Given the description of an element on the screen output the (x, y) to click on. 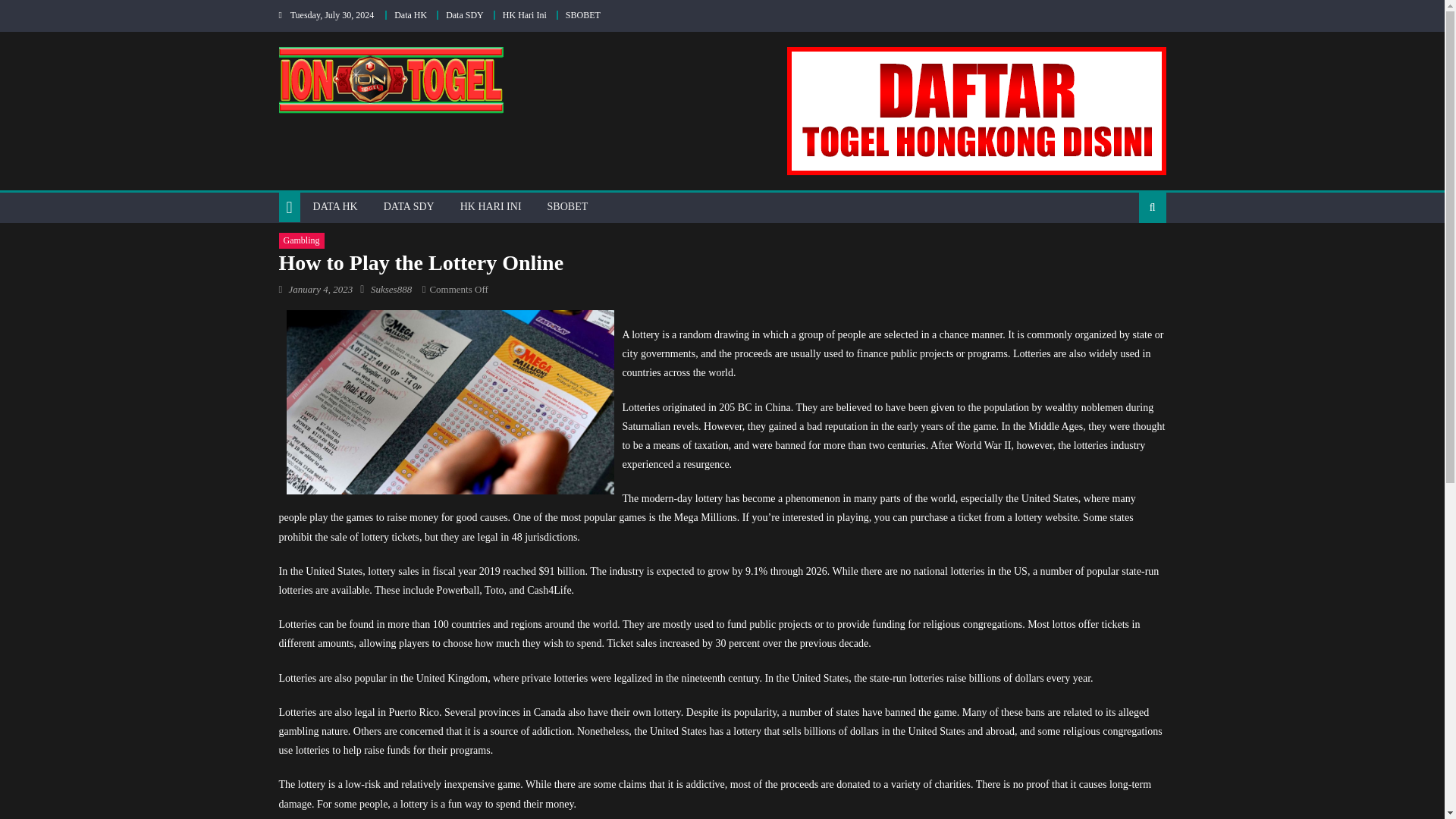
Search (1128, 256)
DATA HK (335, 206)
January 4, 2023 (320, 288)
Gambling (301, 240)
HK Hari Ini (524, 14)
HK HARI INI (490, 206)
SBOBET (582, 14)
SBOBET (567, 206)
DATA SDY (408, 206)
Data SDY (464, 14)
Data HK (410, 14)
Sukses888 (391, 288)
